Given the description of an element on the screen output the (x, y) to click on. 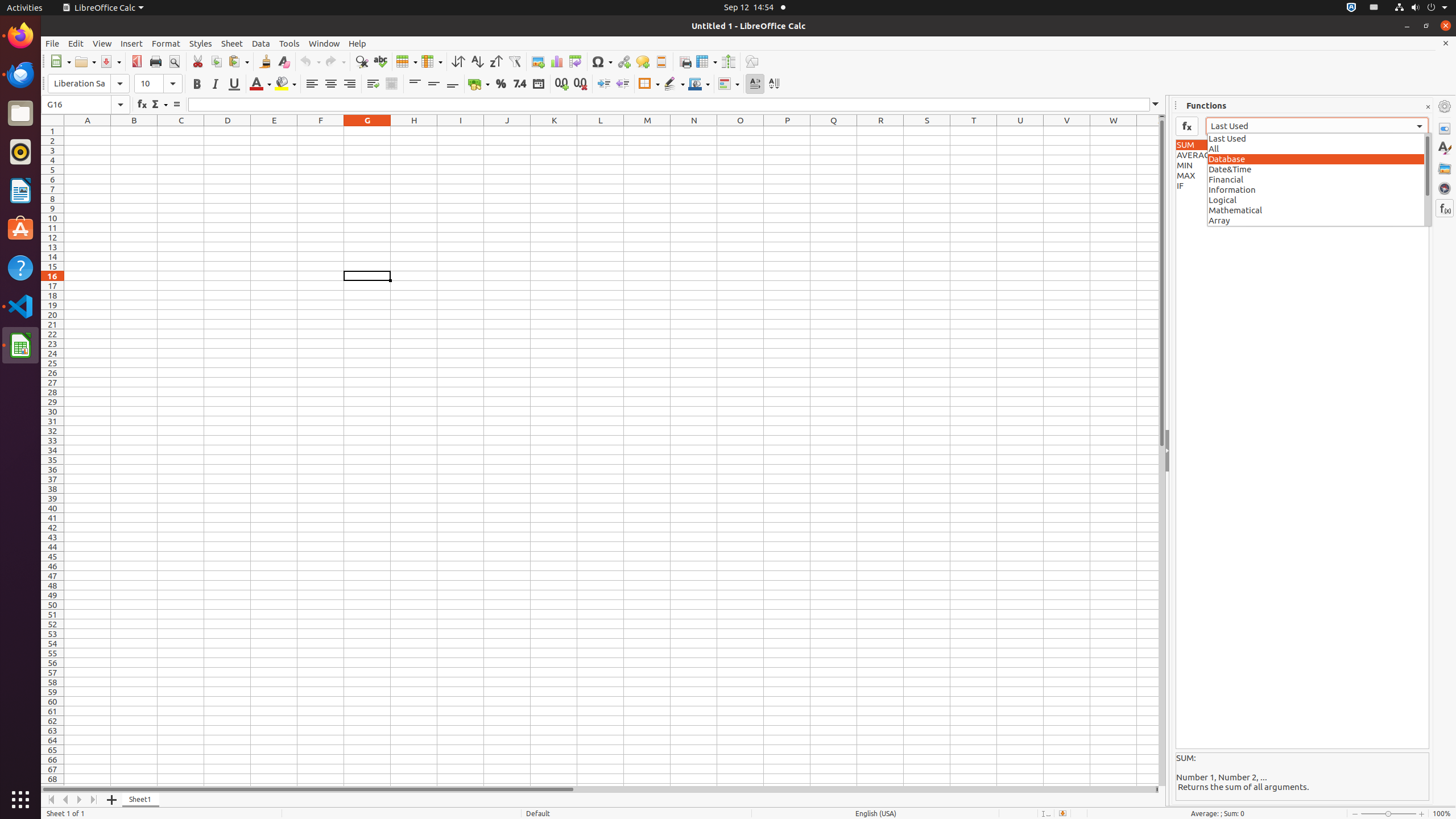
File Element type: menu (51, 43)
Split Window Element type: push-button (727, 61)
Clone Element type: push-button (264, 61)
Styles Element type: radio-button (1444, 148)
Pivot Table Element type: push-button (574, 61)
